Given the description of an element on the screen output the (x, y) to click on. 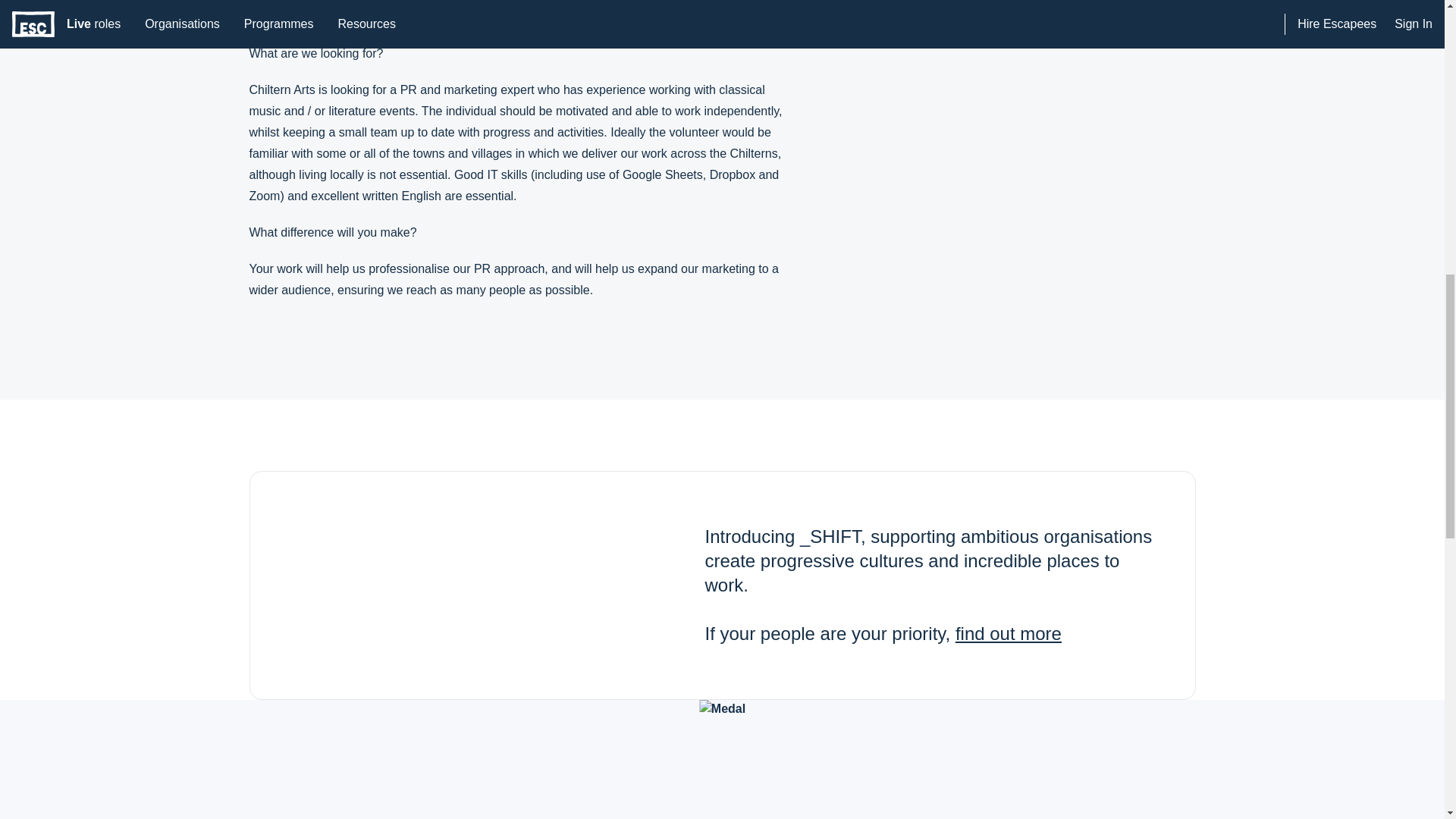
find out more (1008, 633)
